Given the description of an element on the screen output the (x, y) to click on. 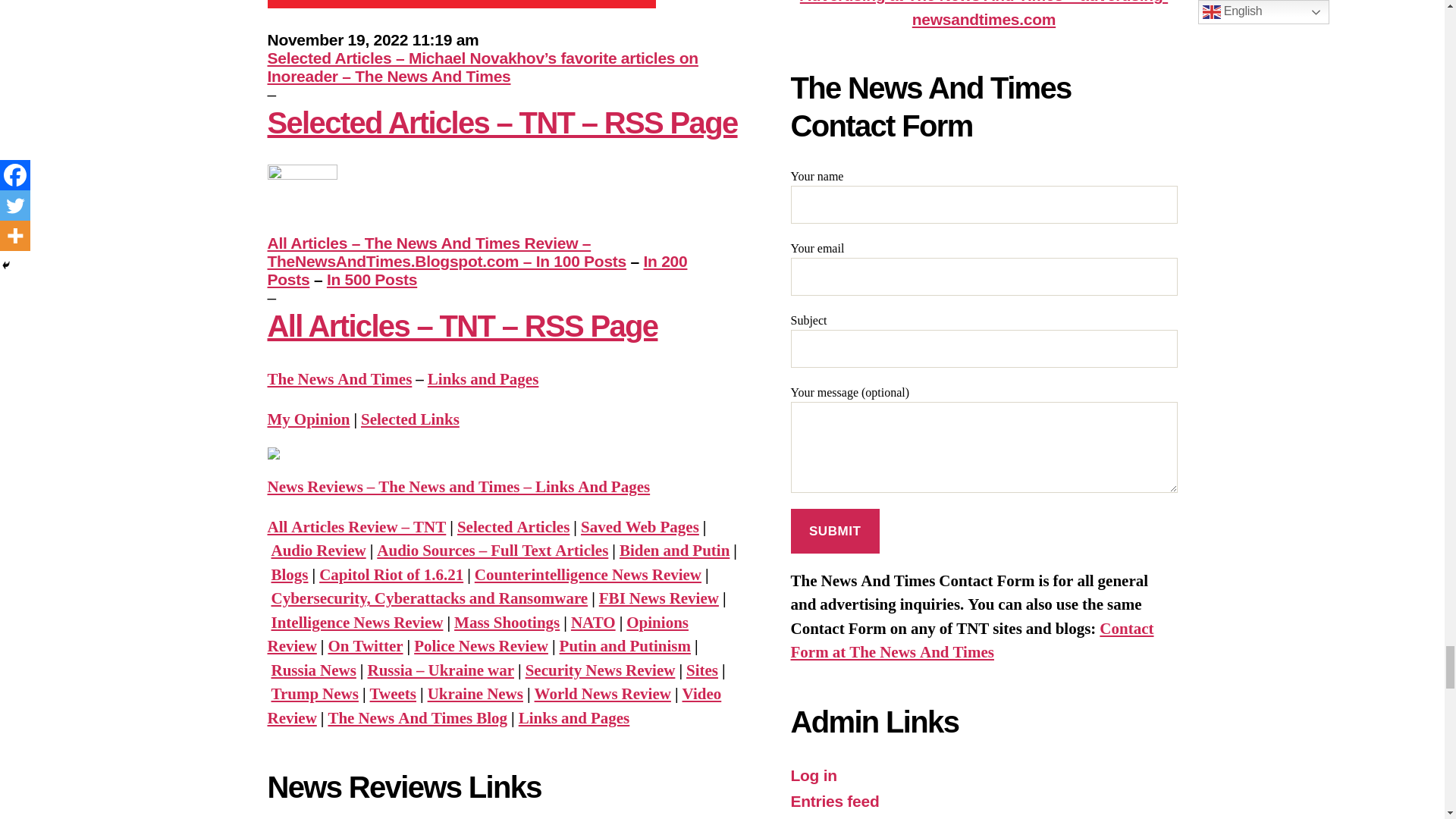
Submit (834, 530)
